Given the description of an element on the screen output the (x, y) to click on. 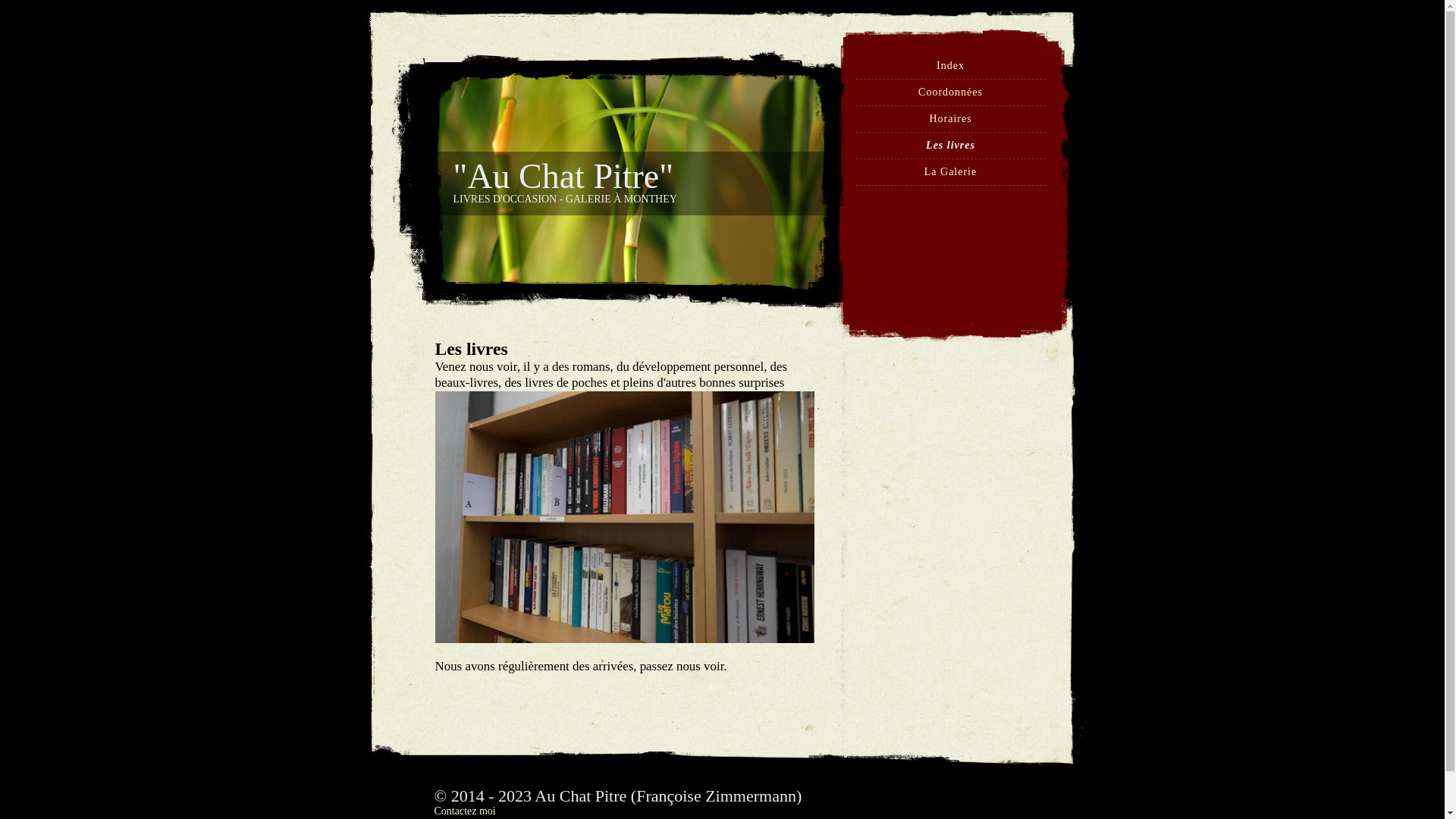
La Galerie Element type: text (950, 171)
Les livres Element type: text (950, 144)
Index Element type: text (950, 65)
Horaires Element type: text (949, 118)
